Given the description of an element on the screen output the (x, y) to click on. 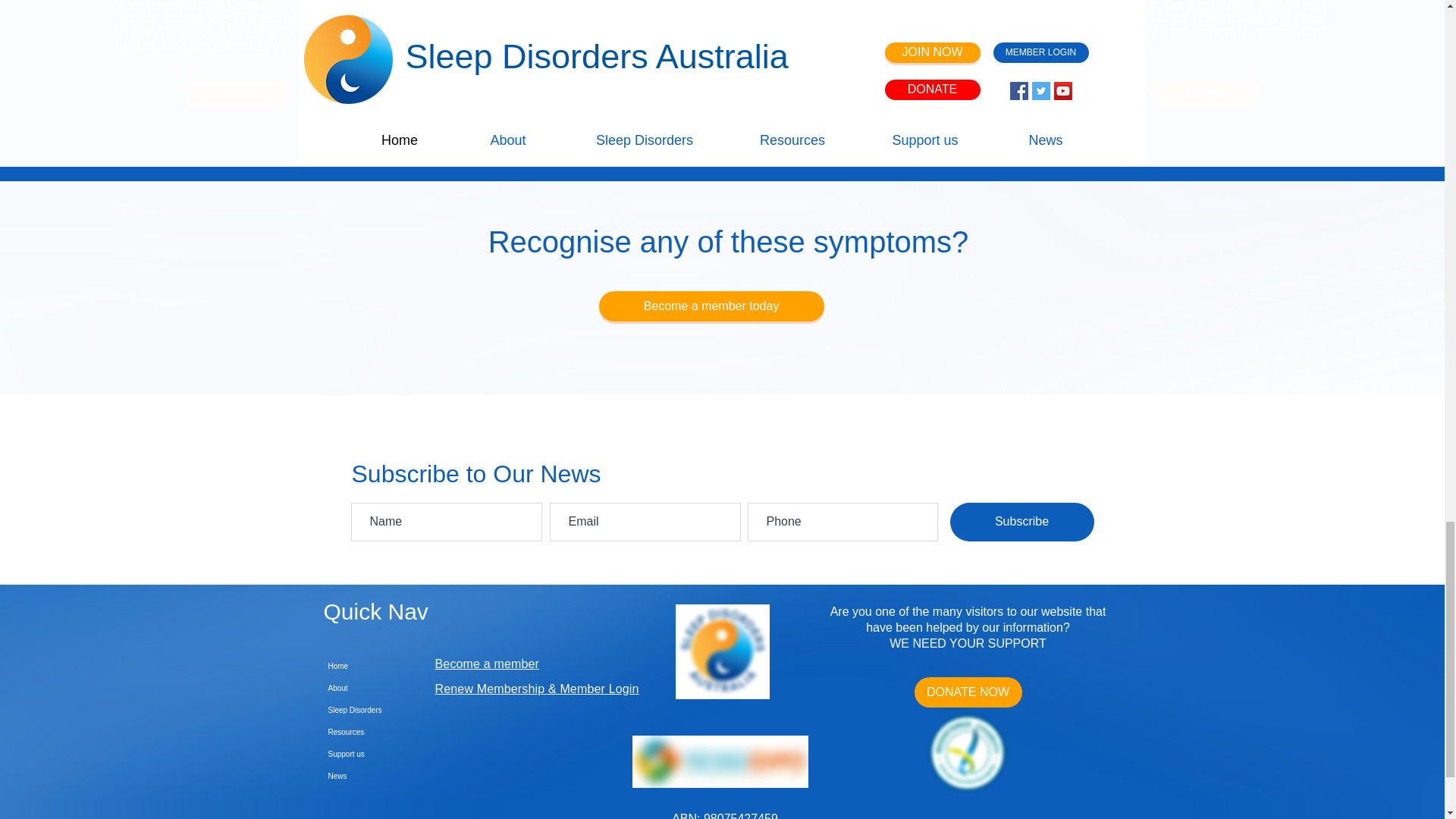
Learn More (722, 96)
Subscribe (1021, 521)
Become a member today (711, 306)
Learn More (235, 94)
Learn More (1205, 92)
